Given the description of an element on the screen output the (x, y) to click on. 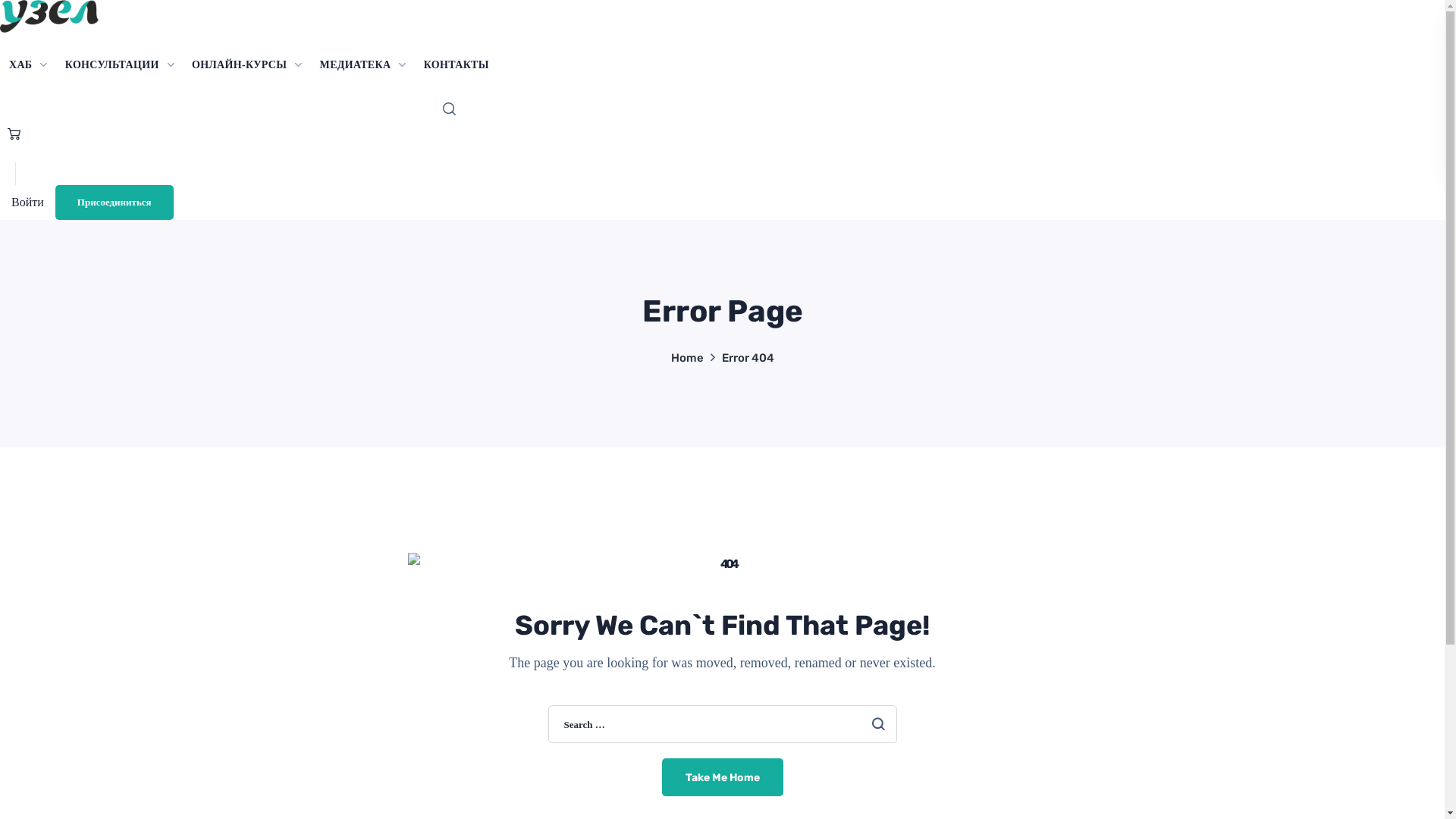
Search Element type: text (866, 166)
Search Element type: text (877, 724)
Take Me Home Element type: text (721, 777)
Click to open Shopping Cart Element type: hover (10, 134)
Home Element type: text (686, 357)
